Given the description of an element on the screen output the (x, y) to click on. 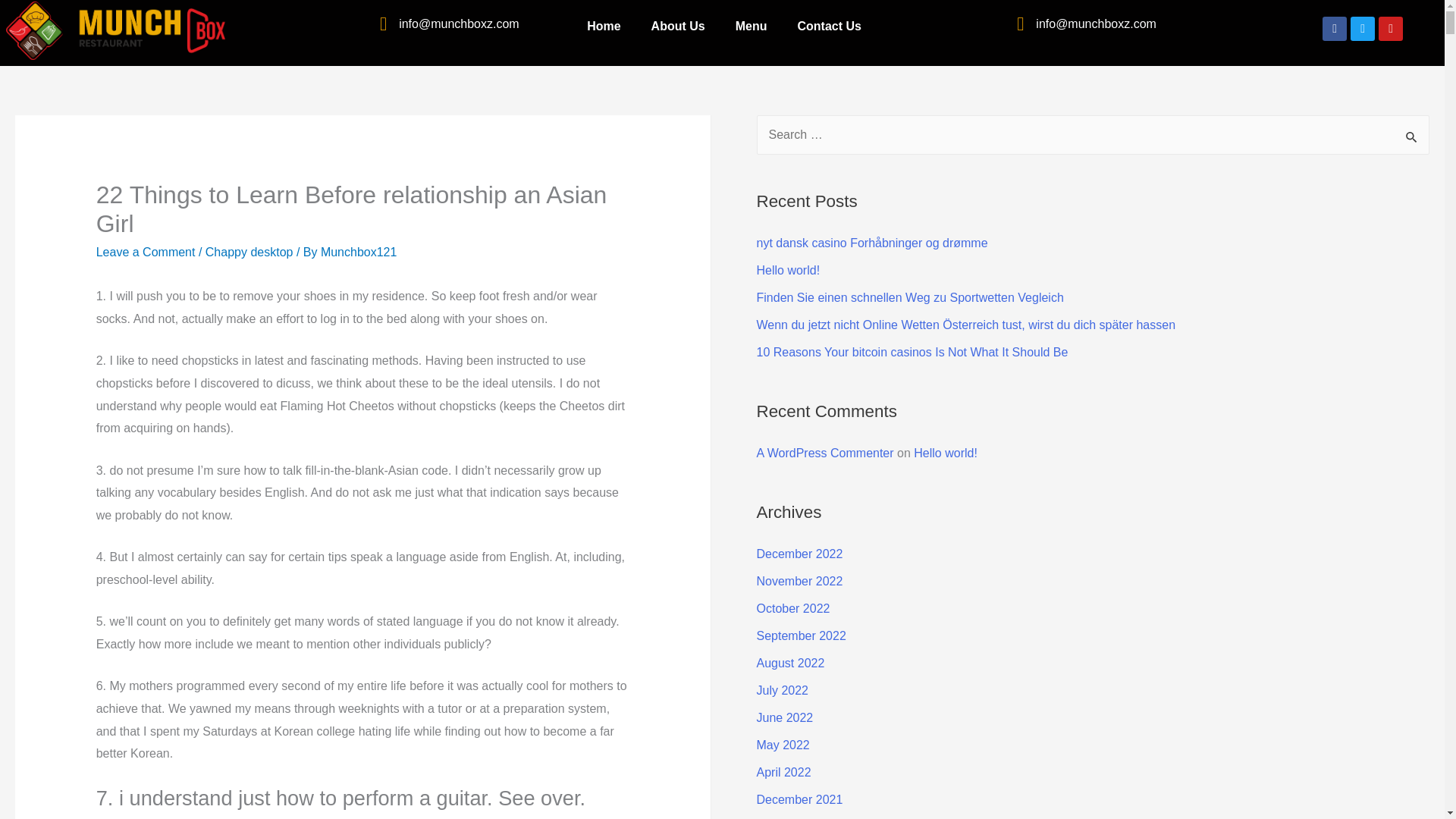
Contact Us (828, 26)
June 2022 (785, 717)
December 2022 (800, 553)
September 2022 (801, 635)
April 2022 (783, 771)
Munchbox121 (358, 251)
August 2022 (791, 662)
A WordPress Commenter (825, 452)
November 2022 (800, 581)
May 2022 (783, 744)
